Given the description of an element on the screen output the (x, y) to click on. 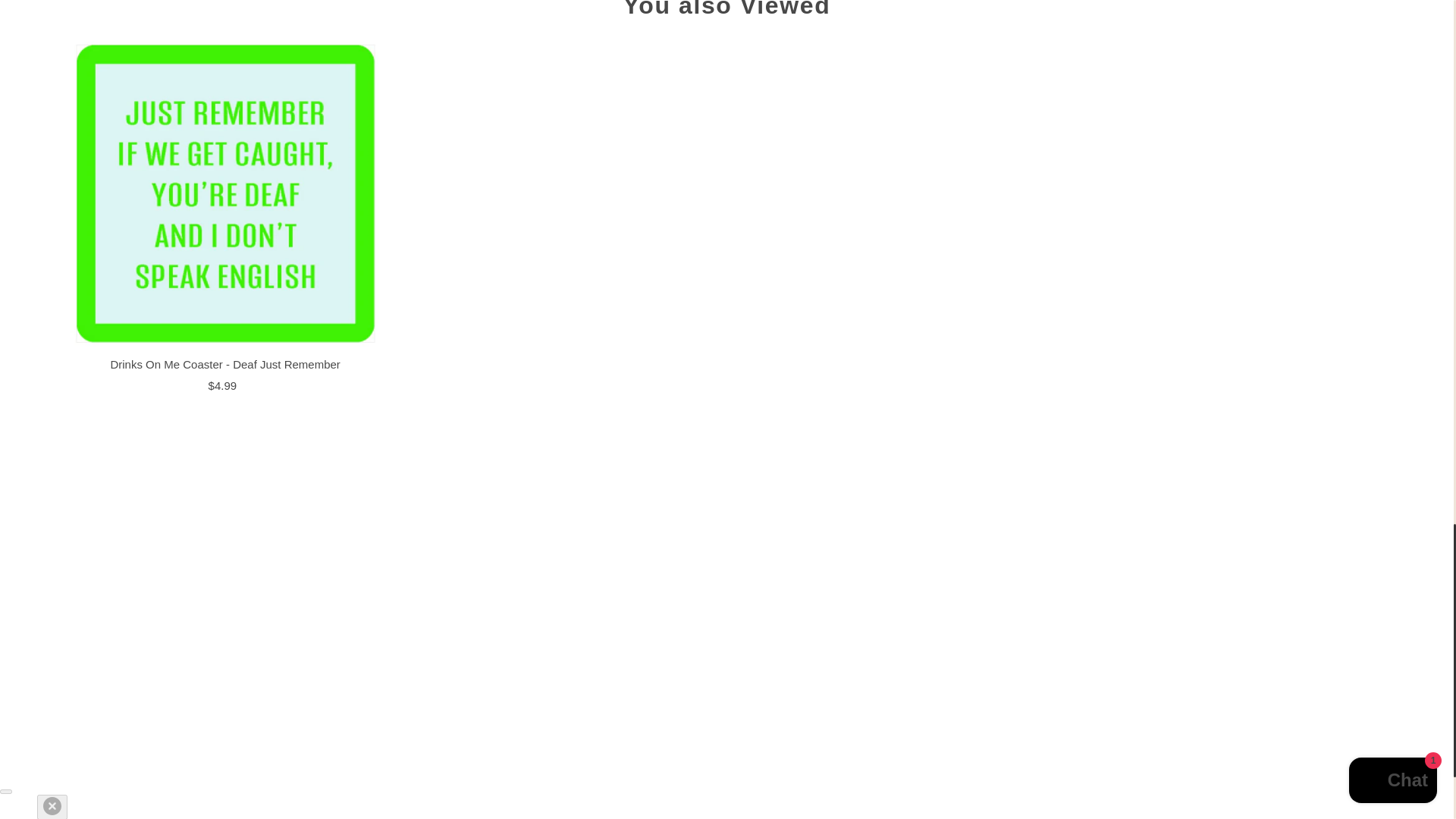
Drinks On Me Coaster - Deaf Just Remember (225, 194)
